Given the description of an element on the screen output the (x, y) to click on. 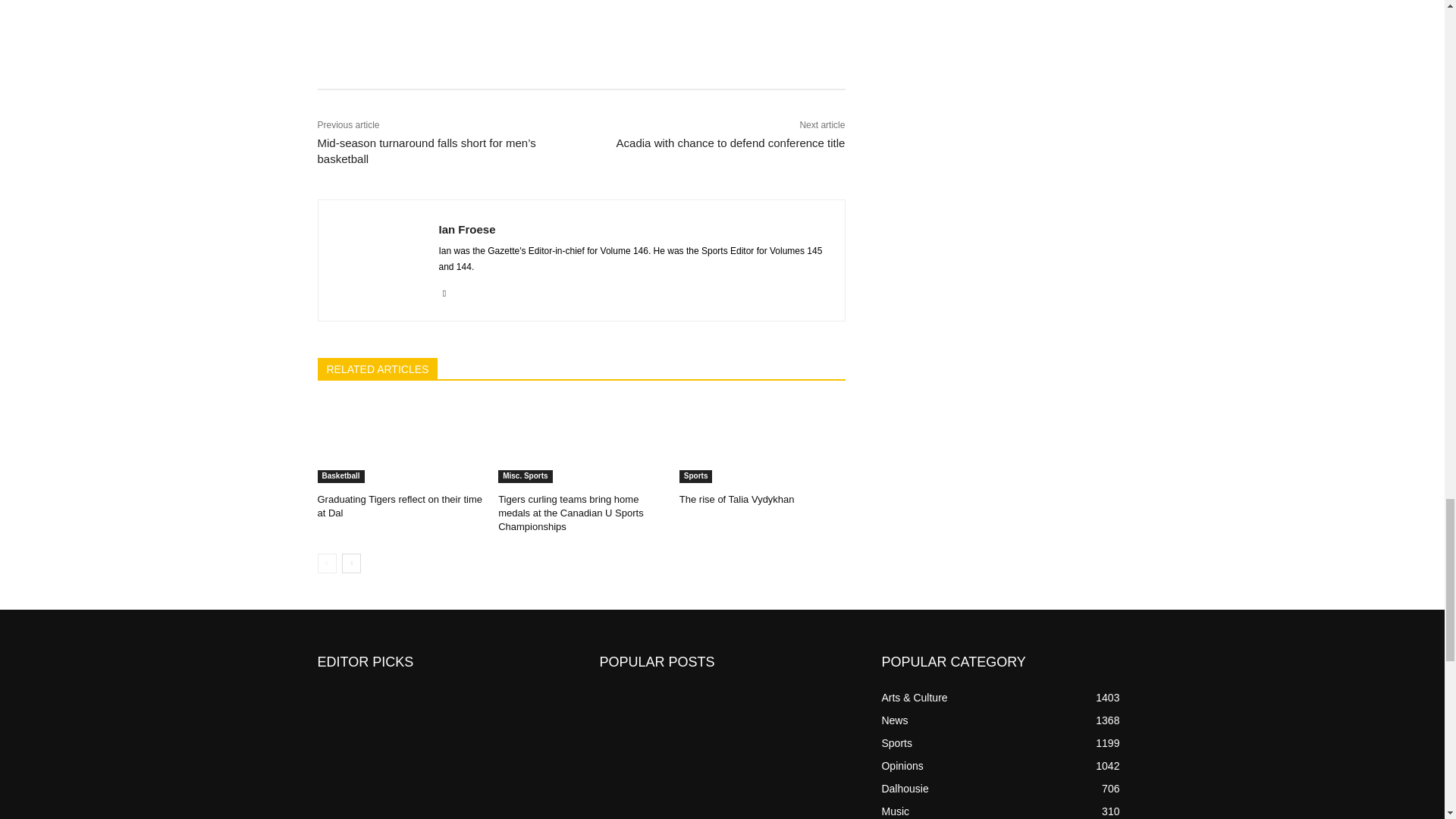
Ian Froese (377, 260)
Graduating Tigers reflect on their time at Dal (400, 441)
twitter (443, 291)
